Given the description of an element on the screen output the (x, y) to click on. 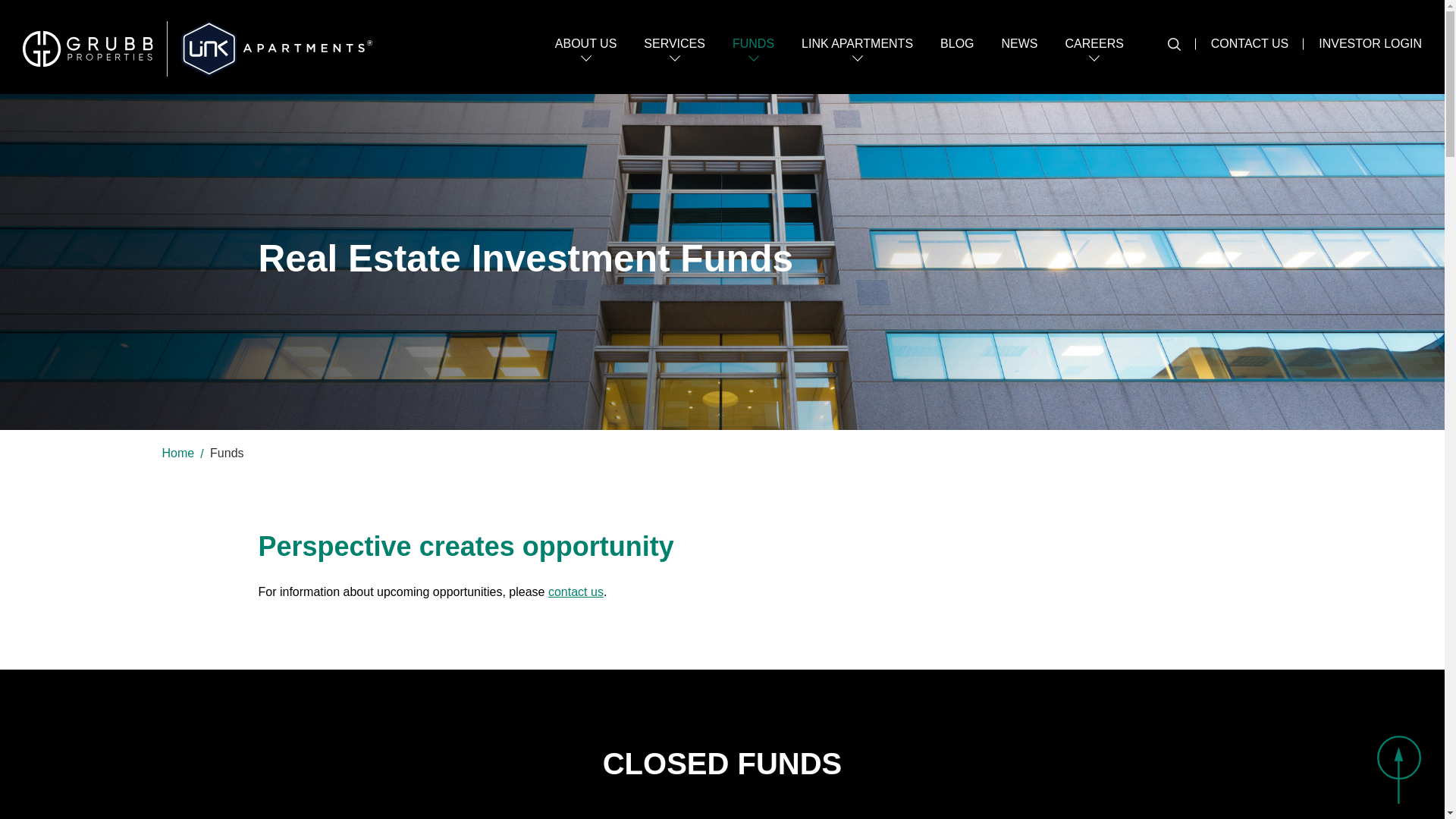
FUNDS (753, 54)
NEWS (1019, 54)
CAREERS (1094, 54)
Grubb Properties (95, 48)
INVESTOR LOGIN (1370, 43)
ABOUT US (585, 54)
SERVICES (673, 54)
CONTACT US (1249, 43)
BLOG (957, 54)
LINK APARTMENTS (857, 54)
